Given the description of an element on the screen output the (x, y) to click on. 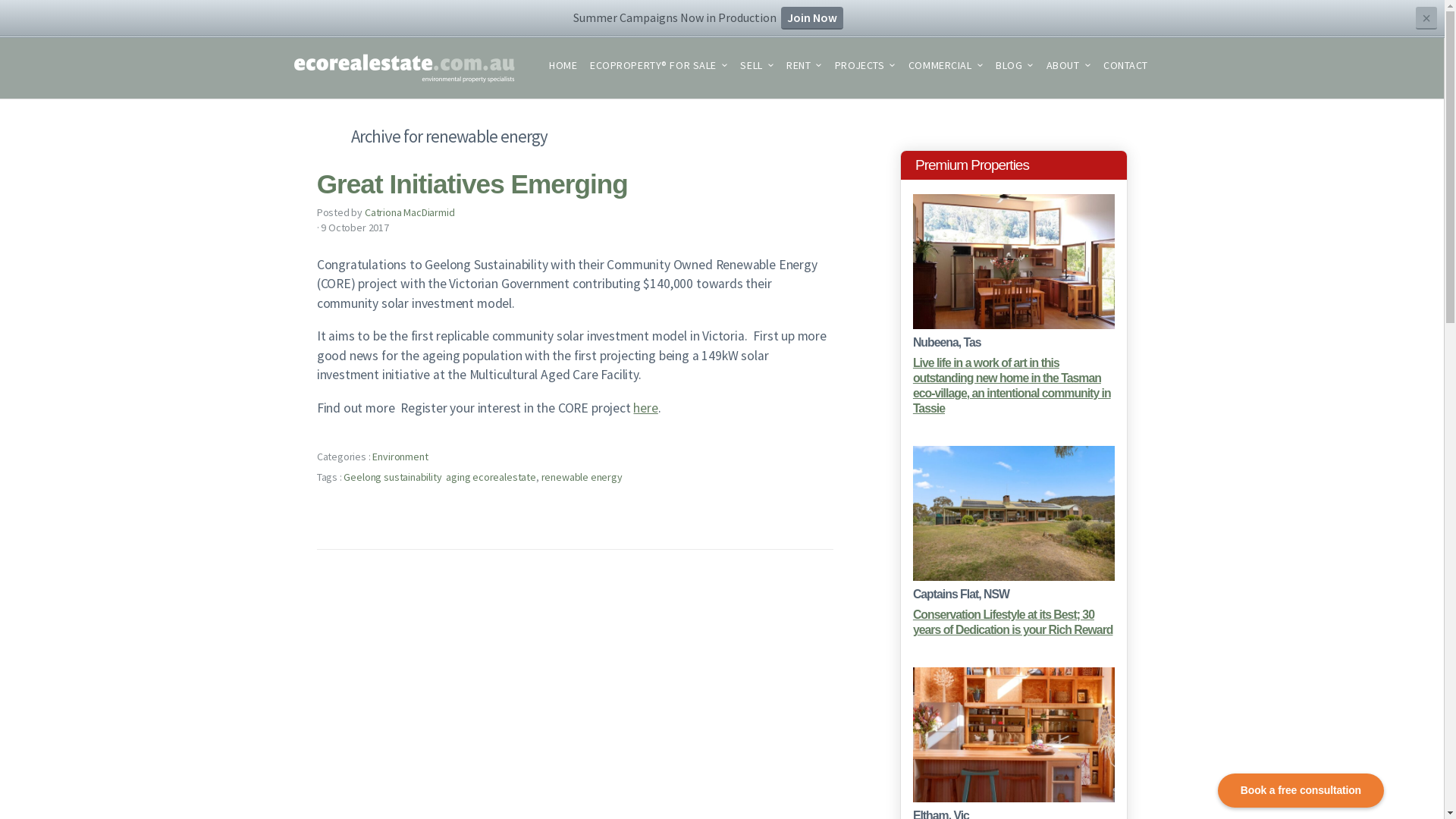
CONTACT Element type: text (1125, 68)
SELL Element type: text (756, 68)
RENT Element type: text (804, 68)
Catriona MacDiarmid Element type: text (409, 212)
Great Initiatives Emerging Element type: text (471, 183)
HOME Element type: text (563, 68)
Geelong sustainability  aging ecorealestate Element type: text (439, 476)
ABOUT Element type: text (1068, 68)
here Element type: text (645, 407)
BLOG Element type: text (1014, 68)
renewable energy Element type: text (581, 476)
Eco Real Estate Element type: hover (403, 67)
Environment Element type: text (399, 456)
Join Now Element type: text (812, 17)
COMMERCIAL Element type: text (945, 68)
PROJECTS Element type: text (865, 68)
